Given the description of an element on the screen output the (x, y) to click on. 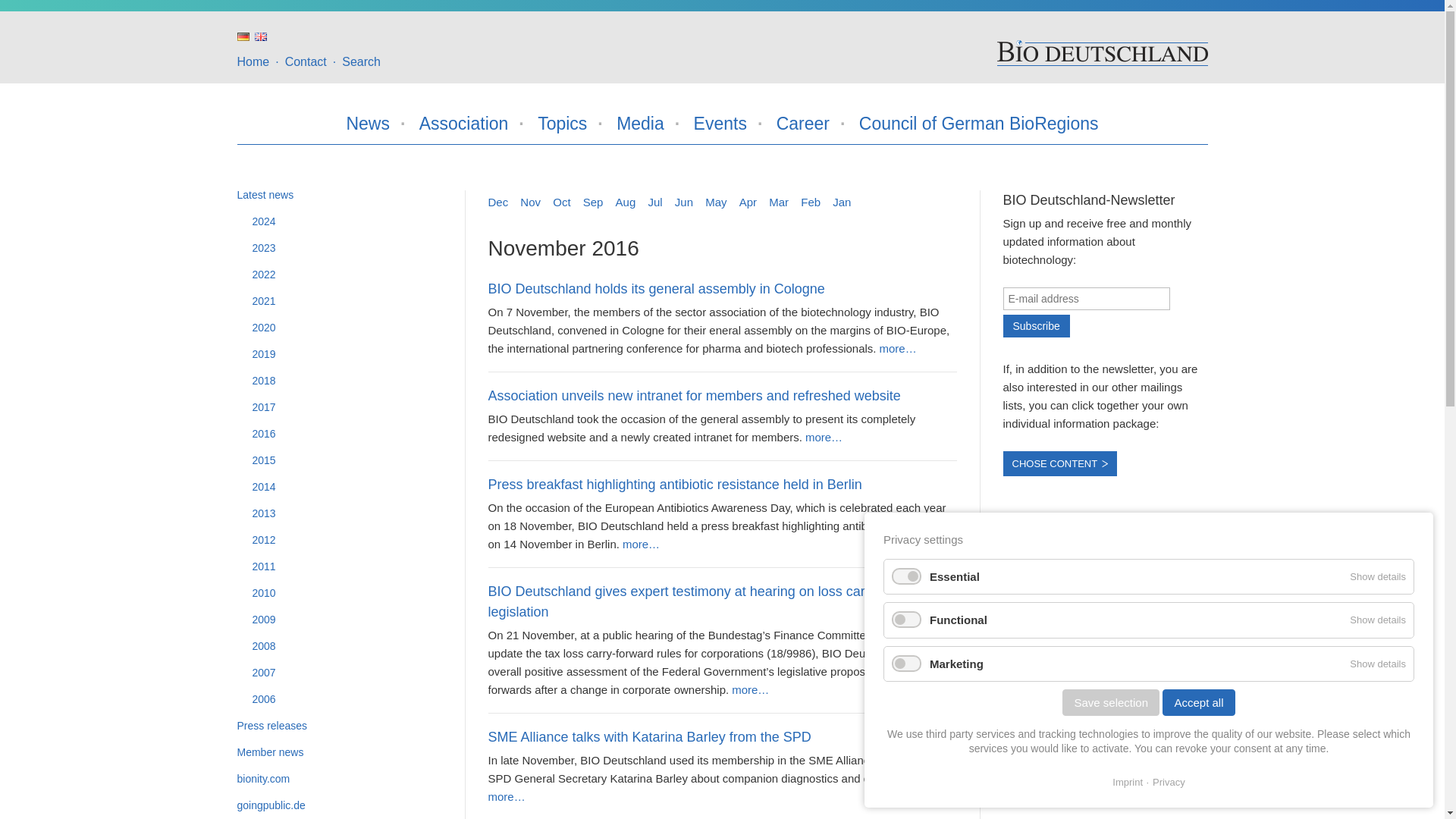
Sep (593, 202)
Dec (497, 202)
Dates (720, 123)
Media (639, 123)
Jun (684, 202)
Apr (748, 202)
May (715, 202)
Topics (561, 123)
BIO Deutschland (1101, 53)
Aktuelle Nachrichten (241, 36)
News (368, 123)
Association (463, 123)
Home (1101, 51)
